Given the description of an element on the screen output the (x, y) to click on. 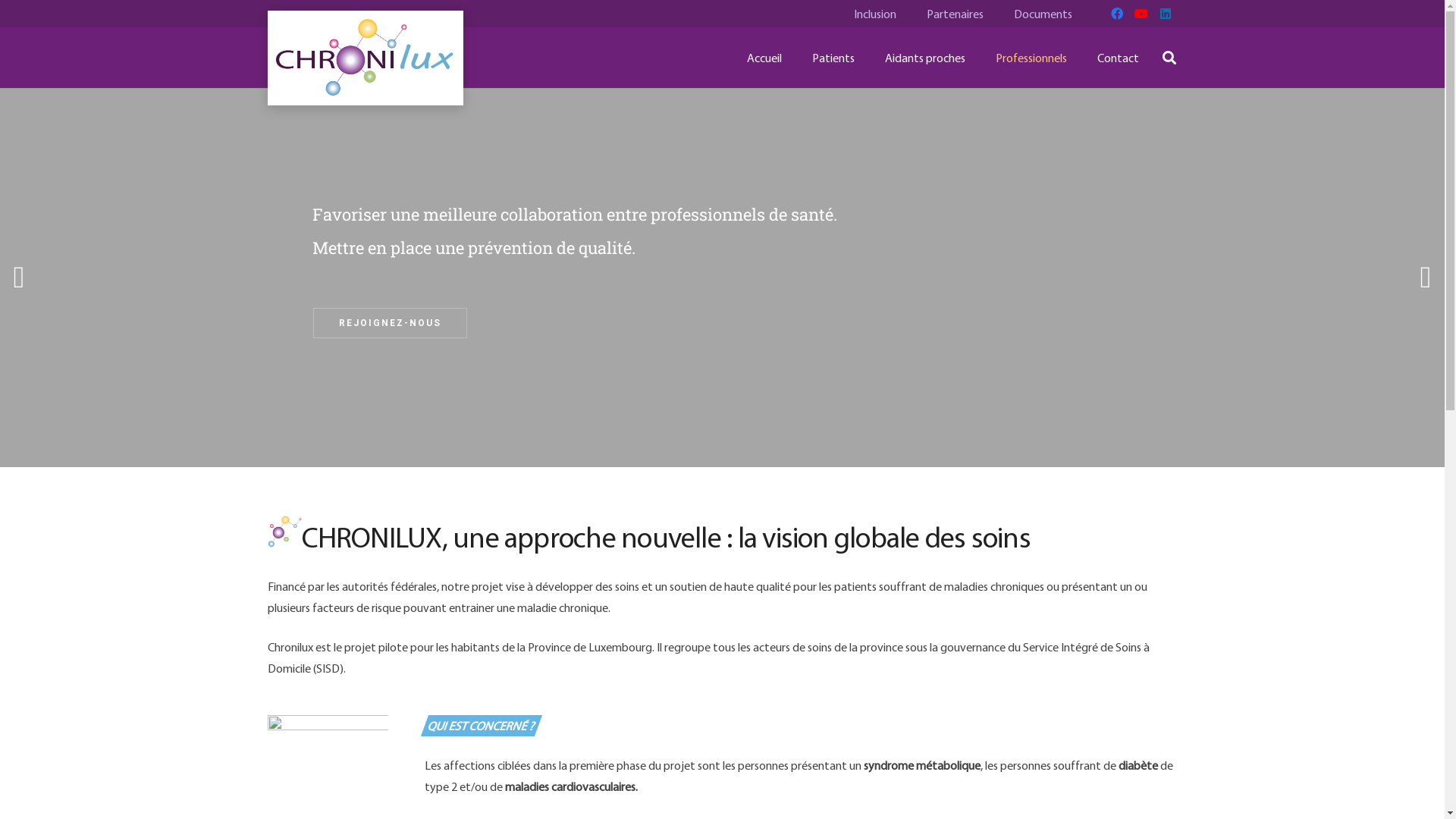
LinkedIn Element type: hover (1164, 13)
Professionnels Element type: text (1031, 57)
Patients Element type: text (833, 57)
Inclusion Element type: text (874, 13)
Contact Element type: text (1118, 57)
Documents Element type: text (1042, 13)
YouTube Element type: hover (1140, 13)
REJOIGNEZ-NOUS Element type: text (389, 322)
Partenaires Element type: text (954, 13)
Aidants proches Element type: text (924, 57)
Facebook Element type: hover (1116, 13)
Accueil Element type: text (764, 57)
